Given the description of an element on the screen output the (x, y) to click on. 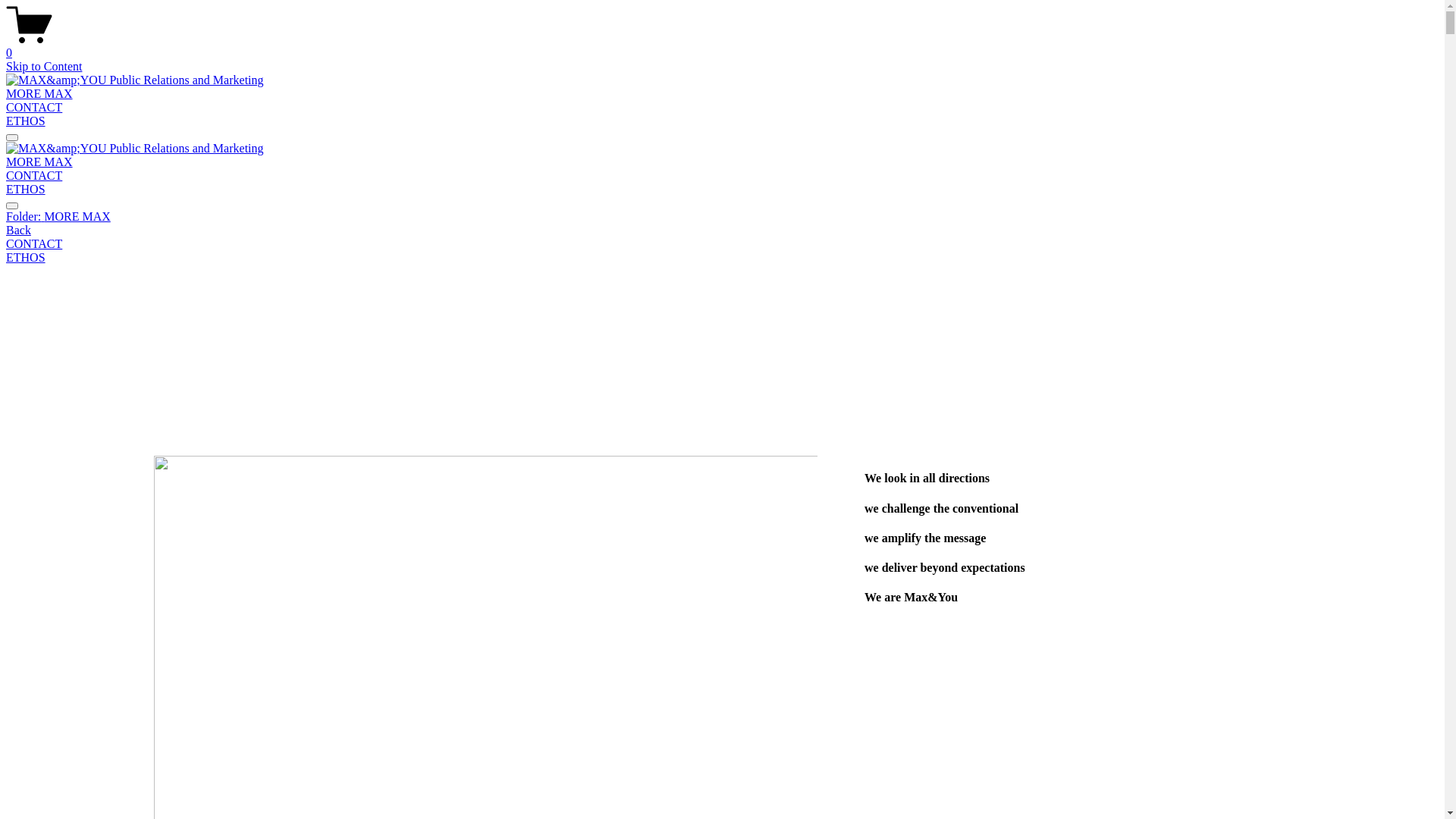
Folder: MORE MAX Element type: text (722, 216)
CONTACT Element type: text (34, 175)
CONTACT Element type: text (34, 106)
ETHOS Element type: text (25, 120)
ETHOS Element type: text (25, 188)
0 Element type: text (722, 45)
MORE MAX Element type: text (39, 161)
ETHOS Element type: text (722, 257)
Back Element type: text (18, 229)
MORE MAX Element type: text (39, 93)
CONTACT Element type: text (722, 244)
Skip to Content Element type: text (43, 65)
